Given the description of an element on the screen output the (x, y) to click on. 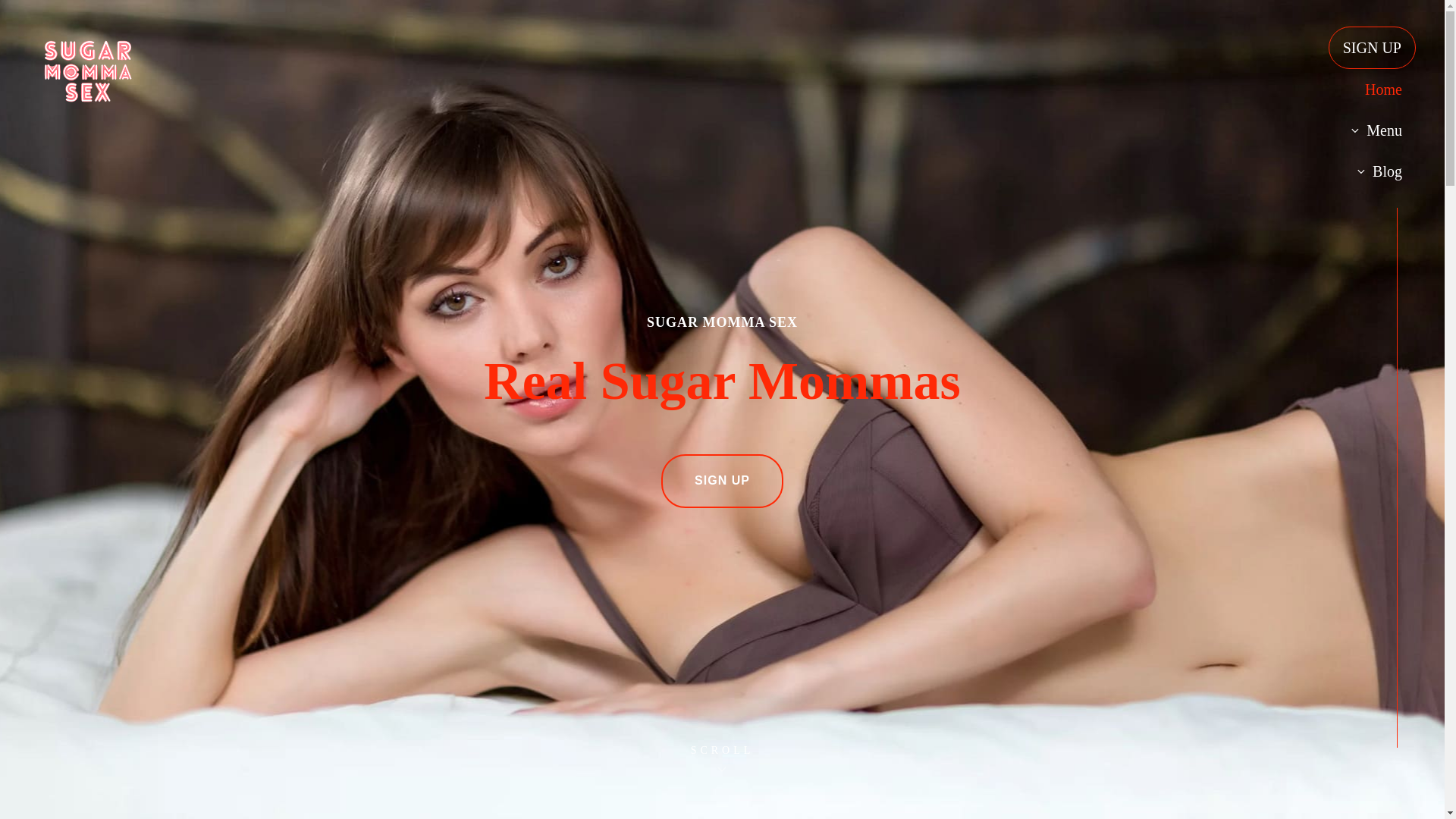
Home (1371, 88)
SCROLL (722, 762)
SIGN UP (1371, 47)
SugarMommaSex.com (241, 88)
Blog (1371, 170)
Menu (1371, 129)
